Given the description of an element on the screen output the (x, y) to click on. 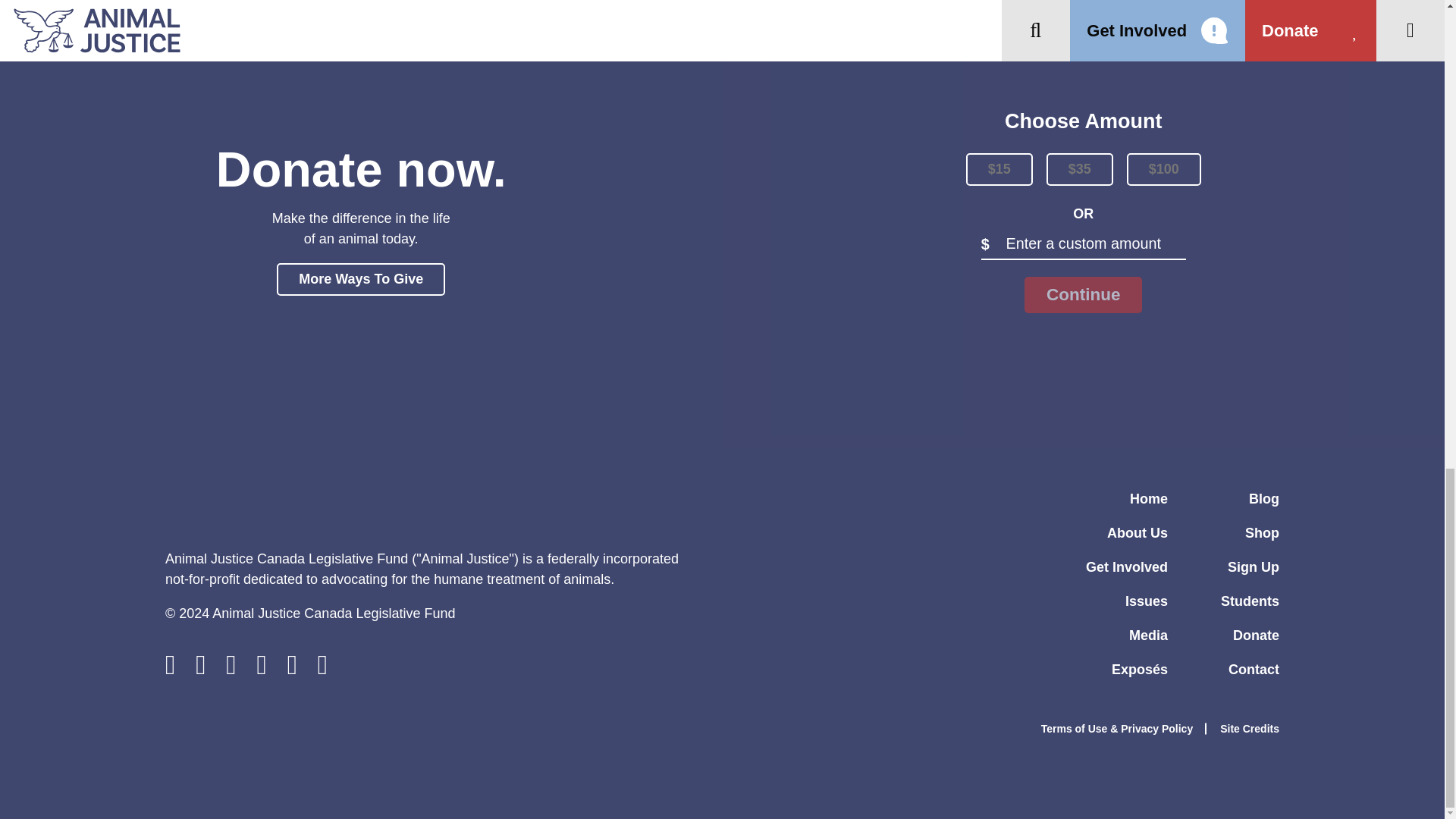
Get Involved (1126, 566)
Issues (1146, 601)
More Ways To Give (360, 278)
Home (1148, 498)
Continue (1083, 294)
About Us (1136, 532)
